Given the description of an element on the screen output the (x, y) to click on. 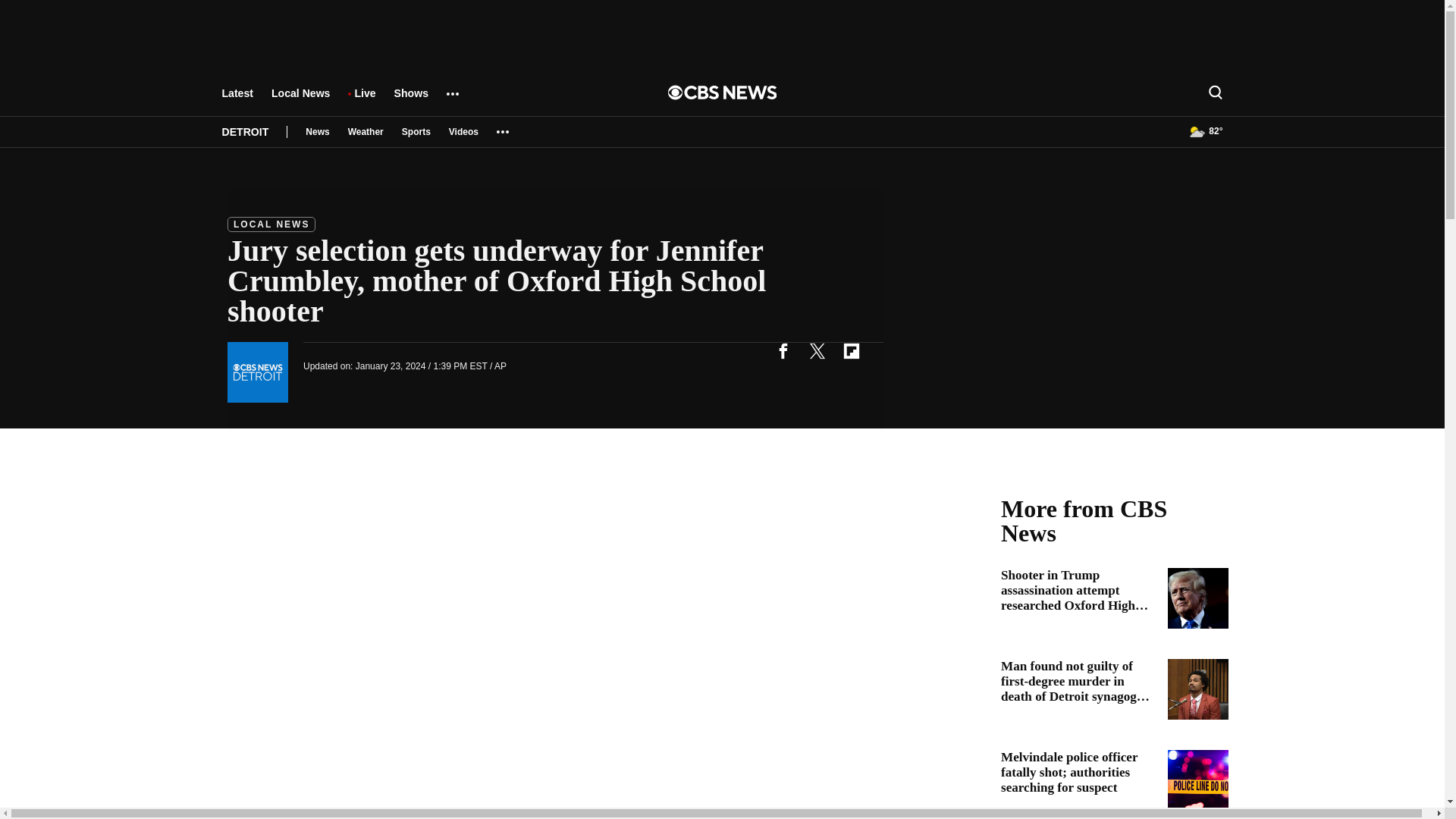
Local News (300, 100)
flipboard (850, 350)
facebook (782, 350)
twitter (816, 350)
Latest (236, 100)
